Given the description of an element on the screen output the (x, y) to click on. 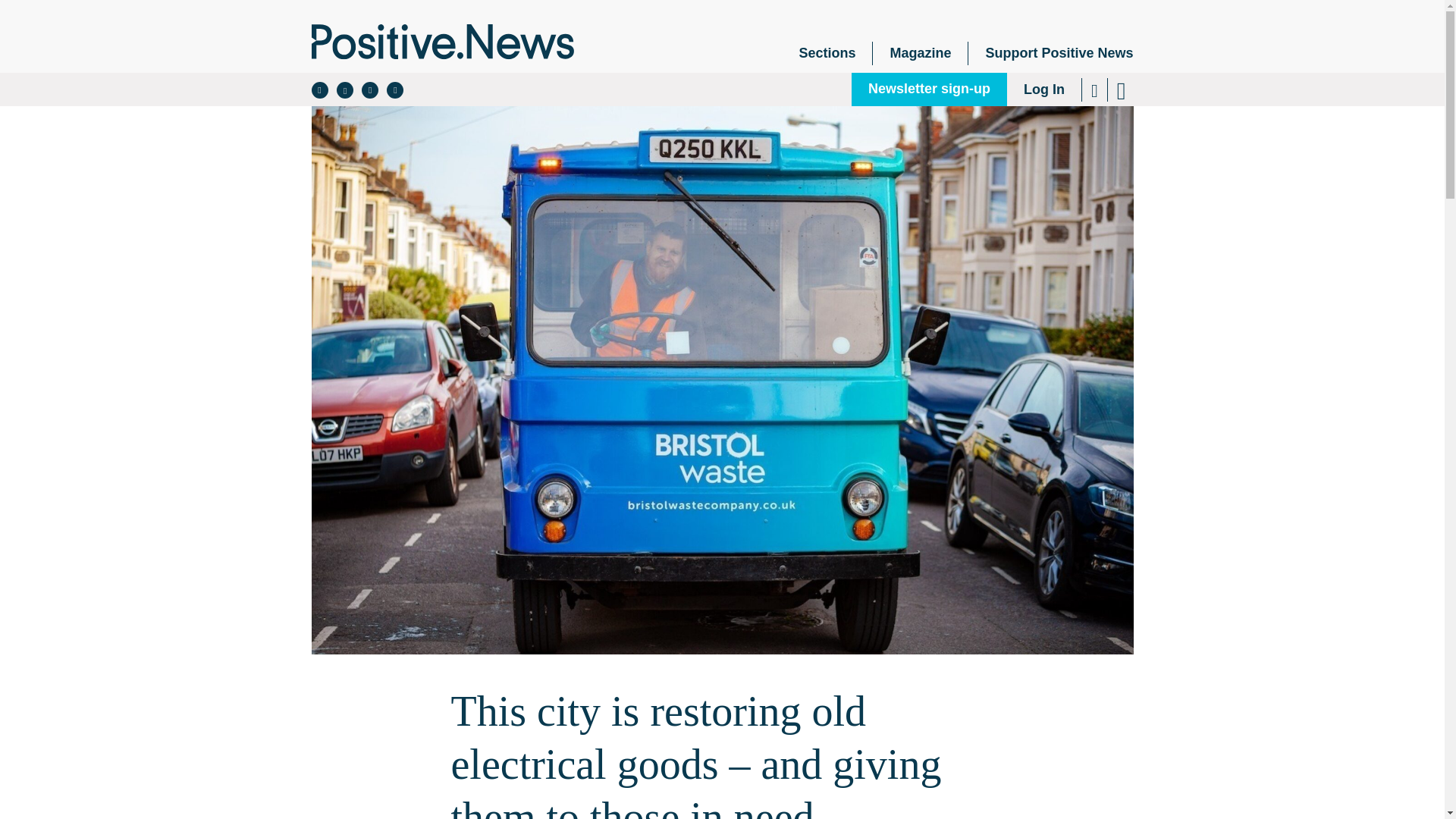
Log In (1044, 89)
Magazine (920, 53)
Support Positive News (1050, 53)
Sections (826, 53)
Newsletter sign-up (929, 89)
